Given the description of an element on the screen output the (x, y) to click on. 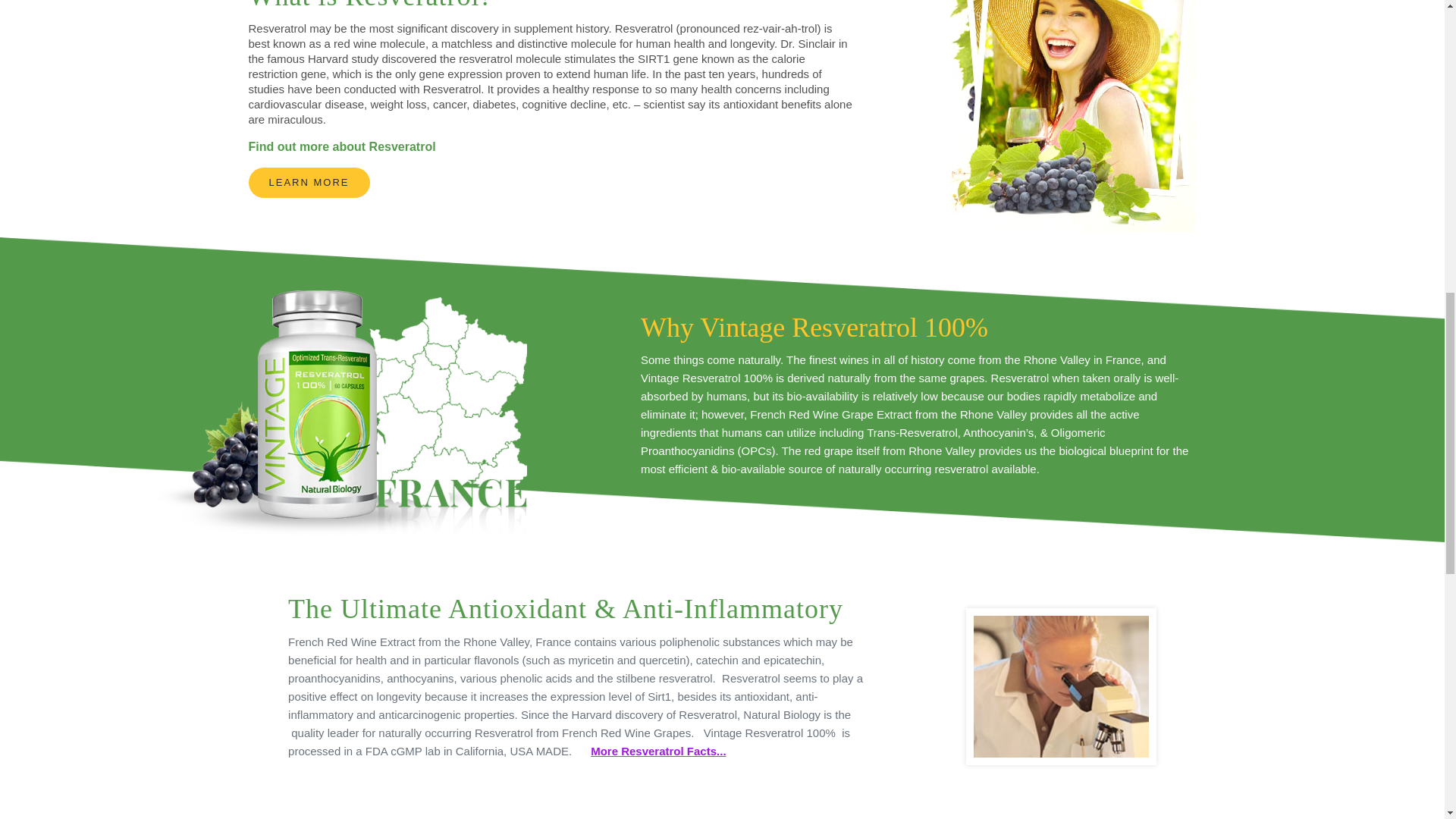
Resveratrol research (658, 750)
